Given the description of an element on the screen output the (x, y) to click on. 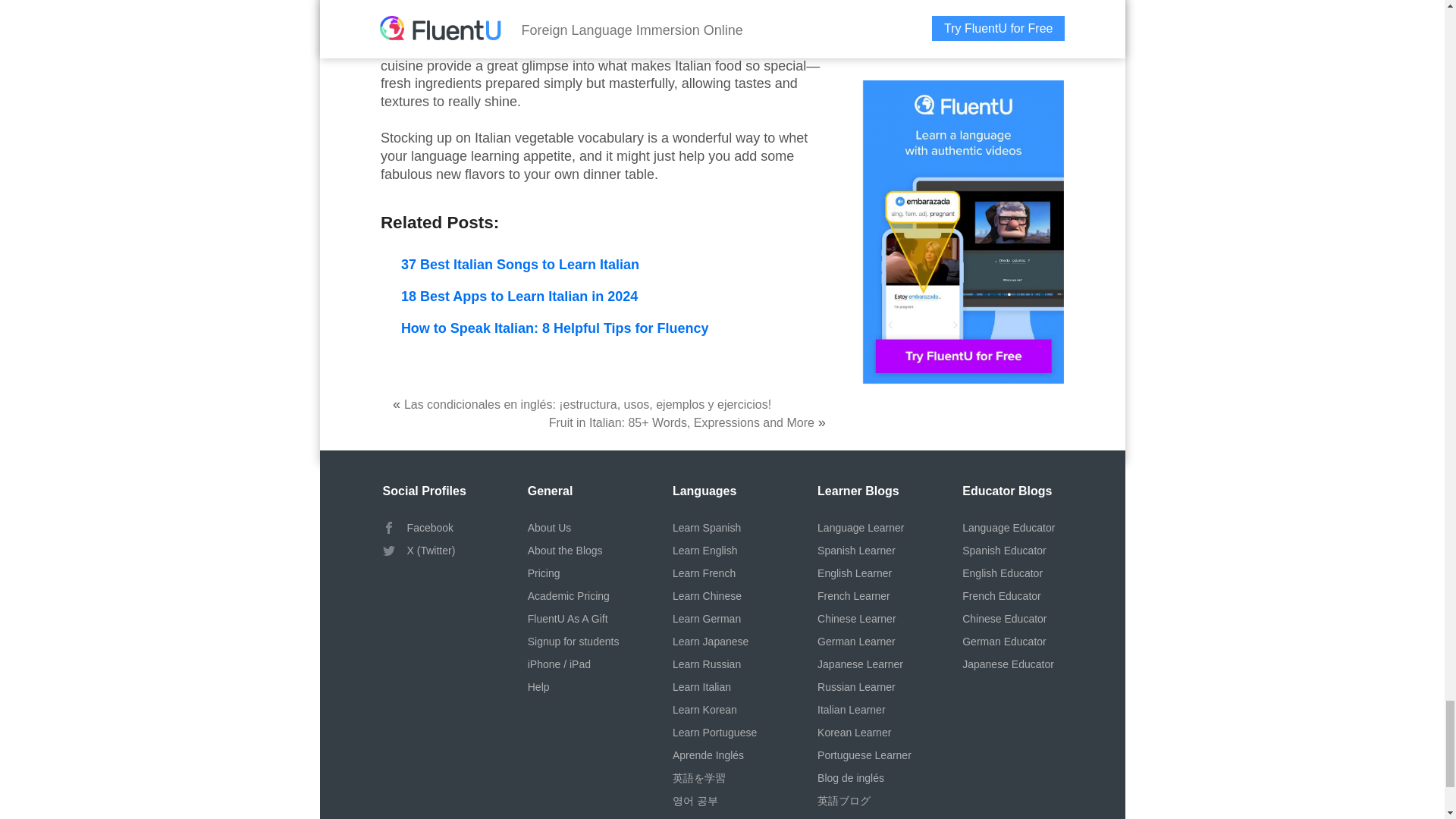
37 Best Italian Songs to Learn Italian (520, 264)
18 Best Apps to Learn Italian in 2024 (519, 296)
How to Speak Italian: 8 Helpful Tips for Fluency (555, 328)
